Given the description of an element on the screen output the (x, y) to click on. 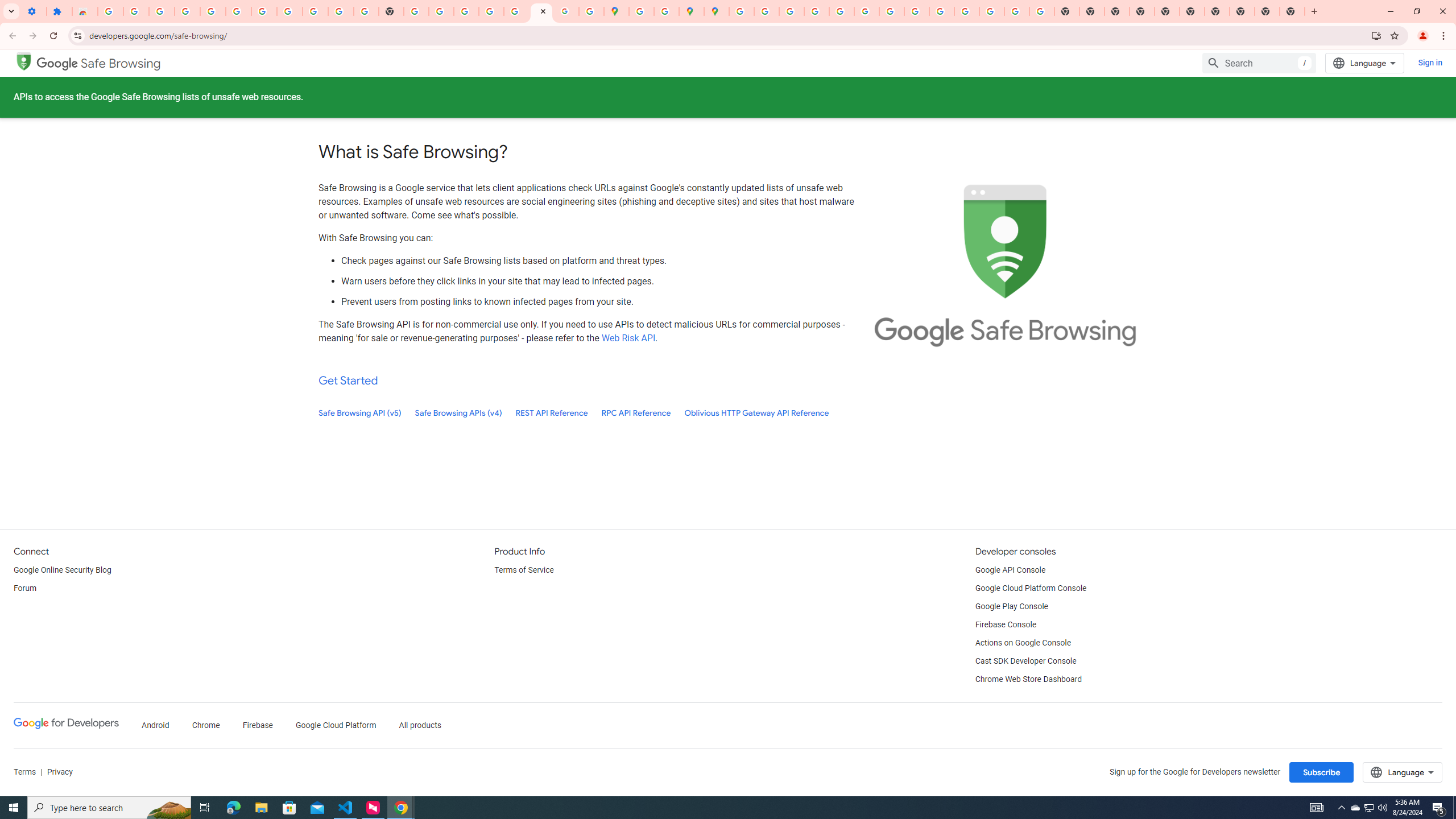
Google Account (315, 11)
